Given the description of an element on the screen output the (x, y) to click on. 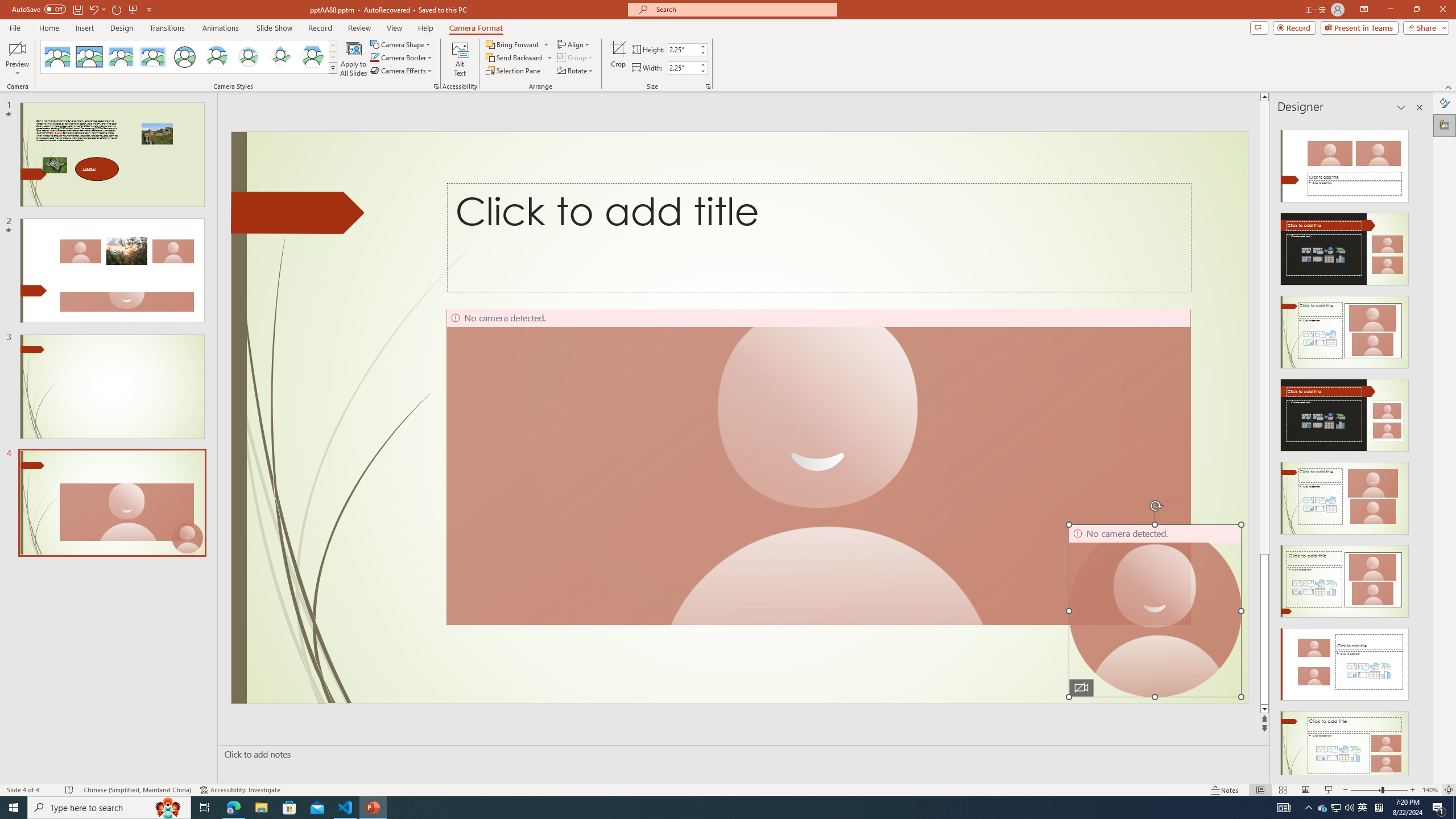
Bring Forward (517, 44)
Soft Edge Circle (248, 56)
Crop (617, 58)
Bring Forward (513, 44)
